Given the description of an element on the screen output the (x, y) to click on. 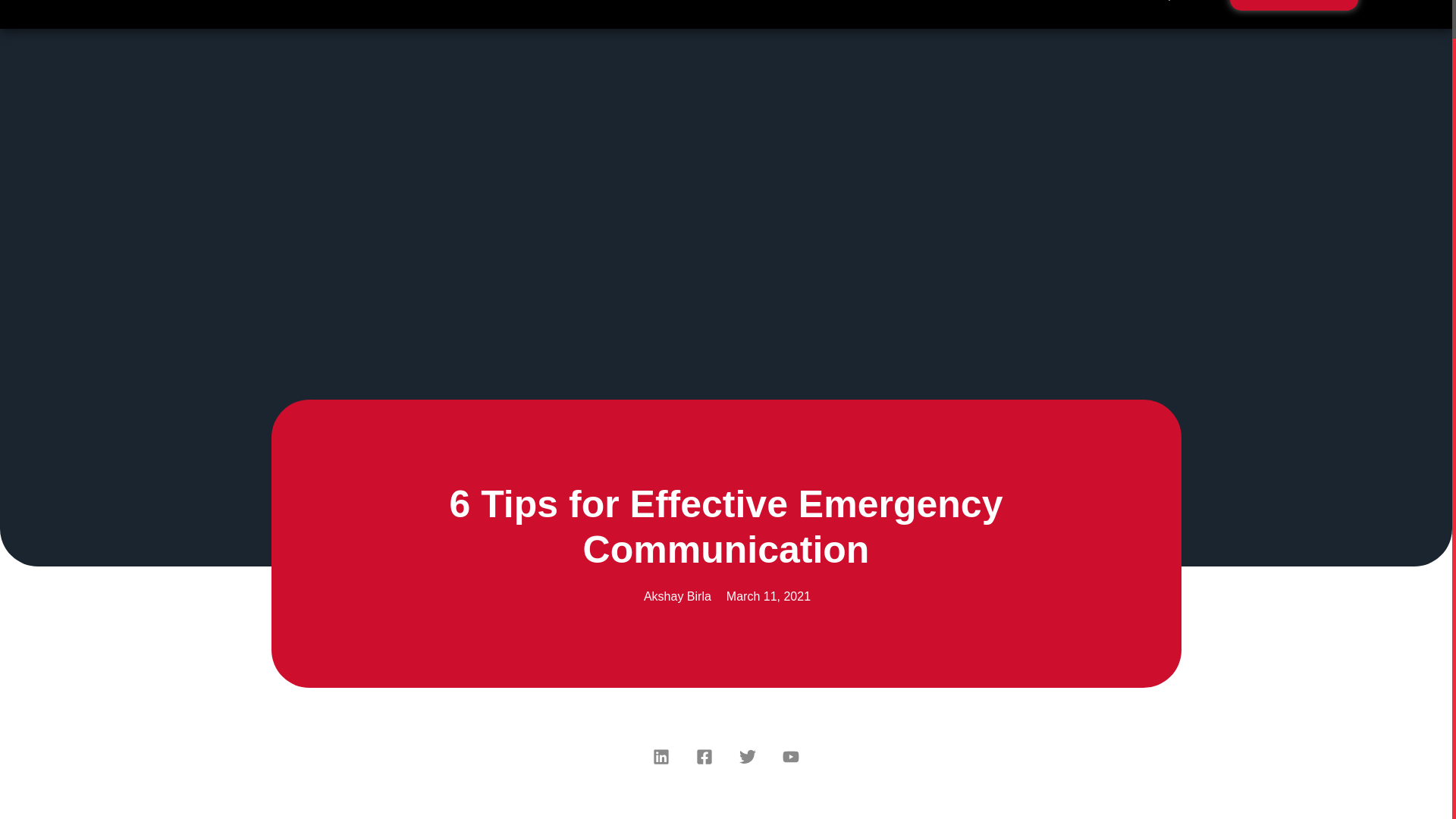
INDUSTRIES (450, 5)
SOLUTIONS (347, 5)
PRODUCTS (553, 5)
RESOURCES (657, 5)
